Given the description of an element on the screen output the (x, y) to click on. 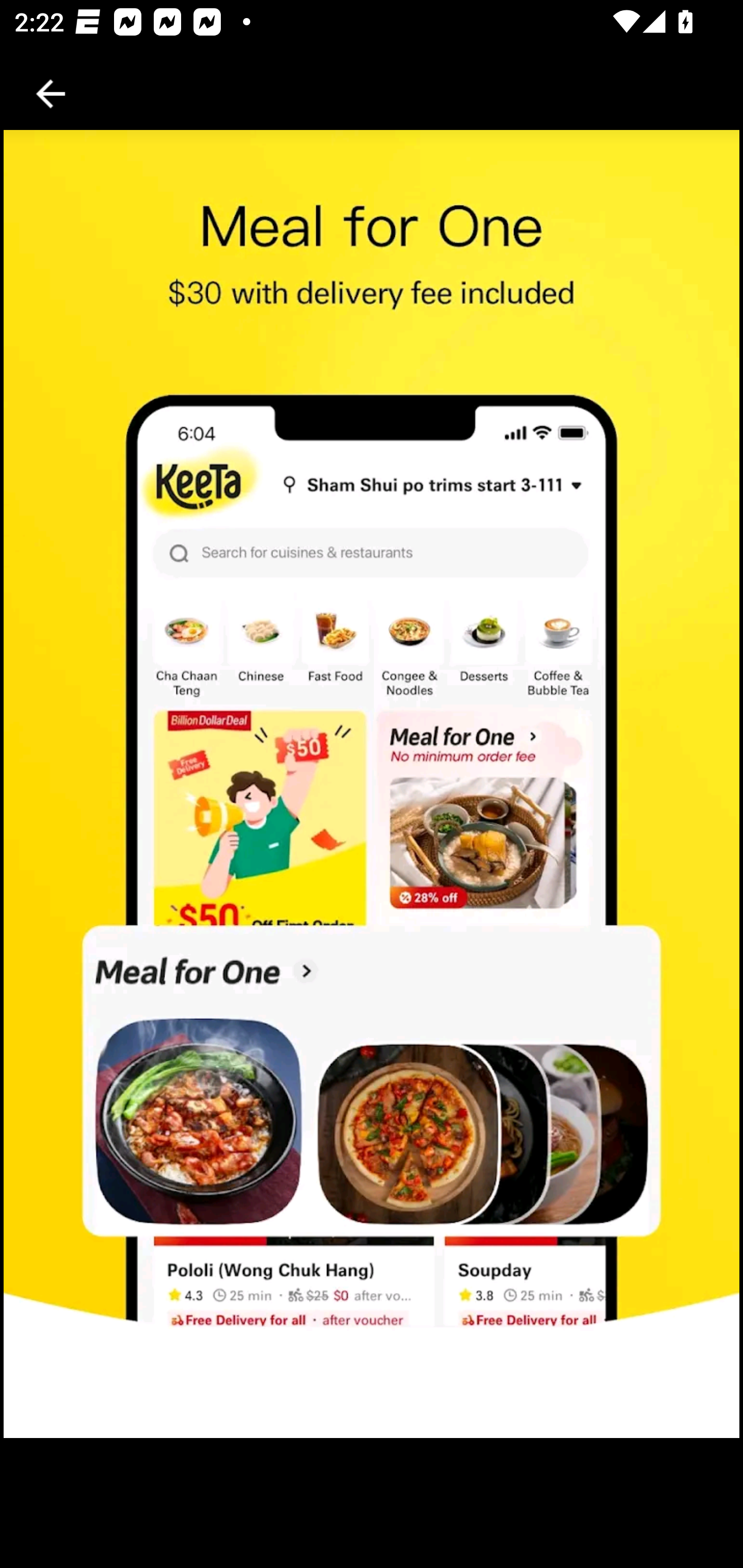
Back (50, 93)
